Given the description of an element on the screen output the (x, y) to click on. 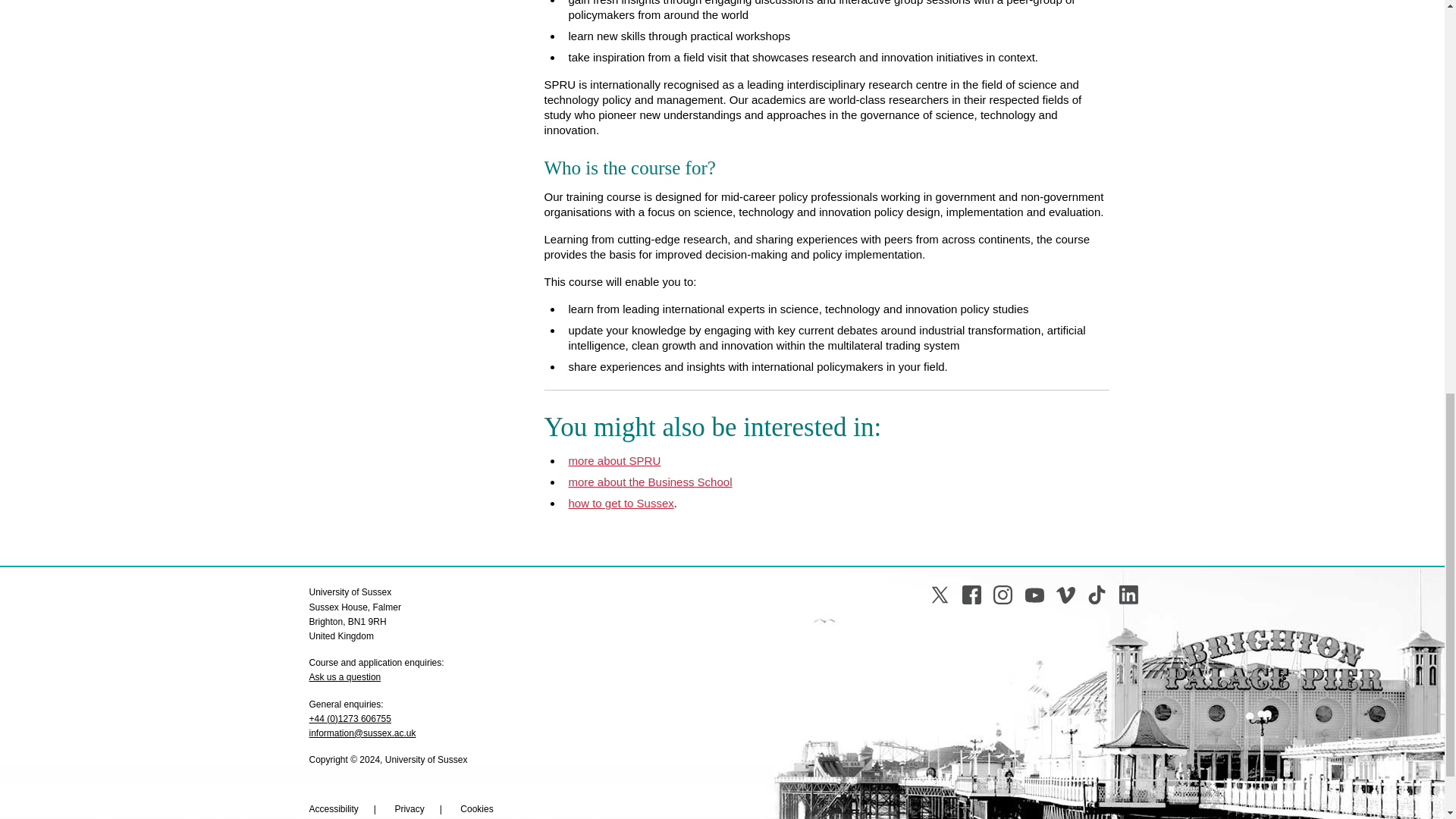
YouTube (1034, 594)
Facebook (971, 594)
Linkedin (1128, 594)
Vimeo (1066, 594)
Twitter (939, 594)
Tiktok (1096, 594)
Instagram (1001, 594)
